Given the description of an element on the screen output the (x, y) to click on. 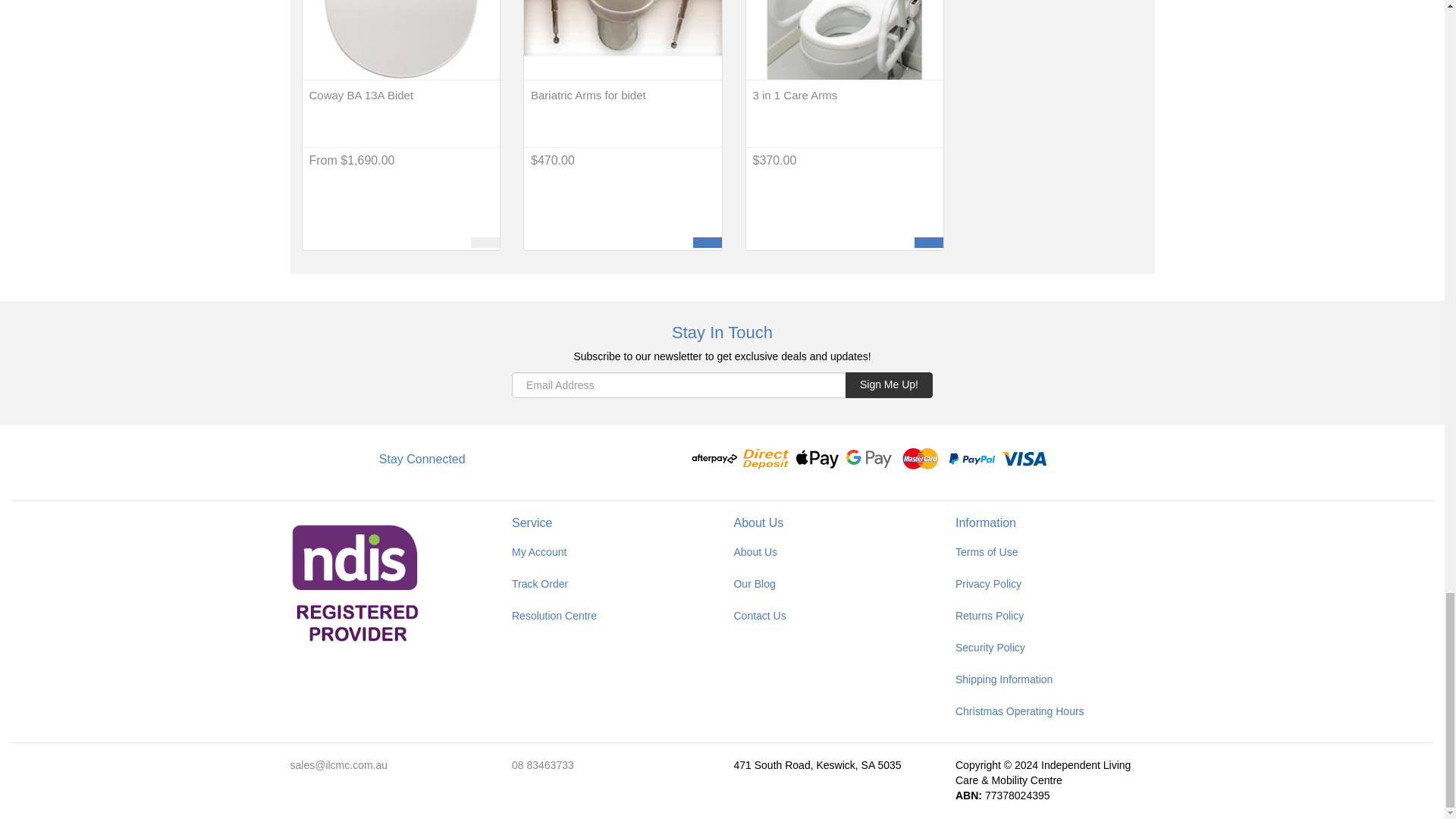
Sign Me Up! (889, 385)
